Given the description of an element on the screen output the (x, y) to click on. 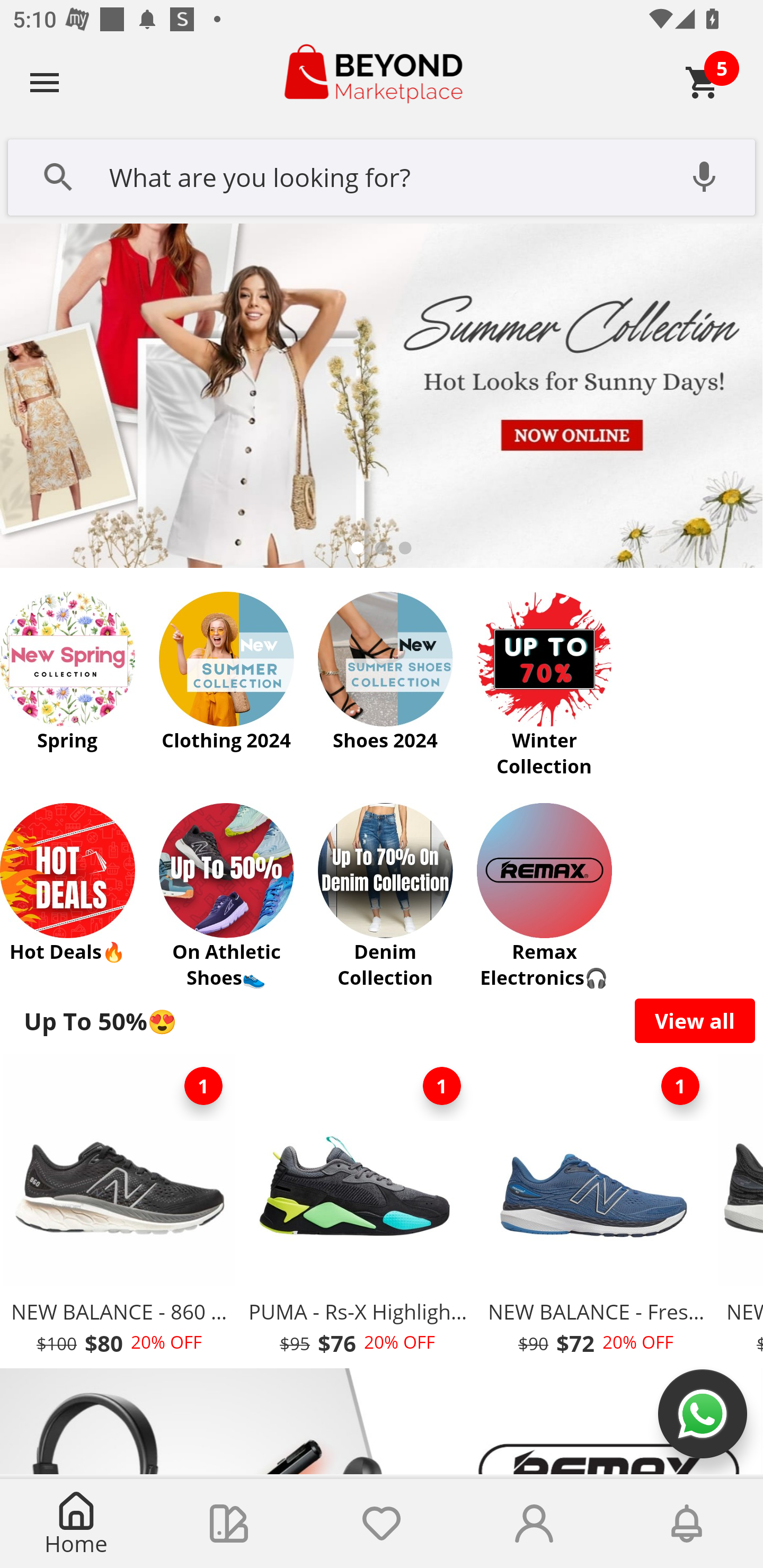
Navigate up (44, 82)
What are you looking for? (381, 175)
View all (694, 1020)
1 NEW BALANCE - 860 Running Shoes $100 $80 20% OFF (119, 1209)
1 (203, 1085)
1 (441, 1085)
1 (680, 1085)
Collections (228, 1523)
Wishlist (381, 1523)
Account (533, 1523)
Notifications (686, 1523)
